Given the description of an element on the screen output the (x, y) to click on. 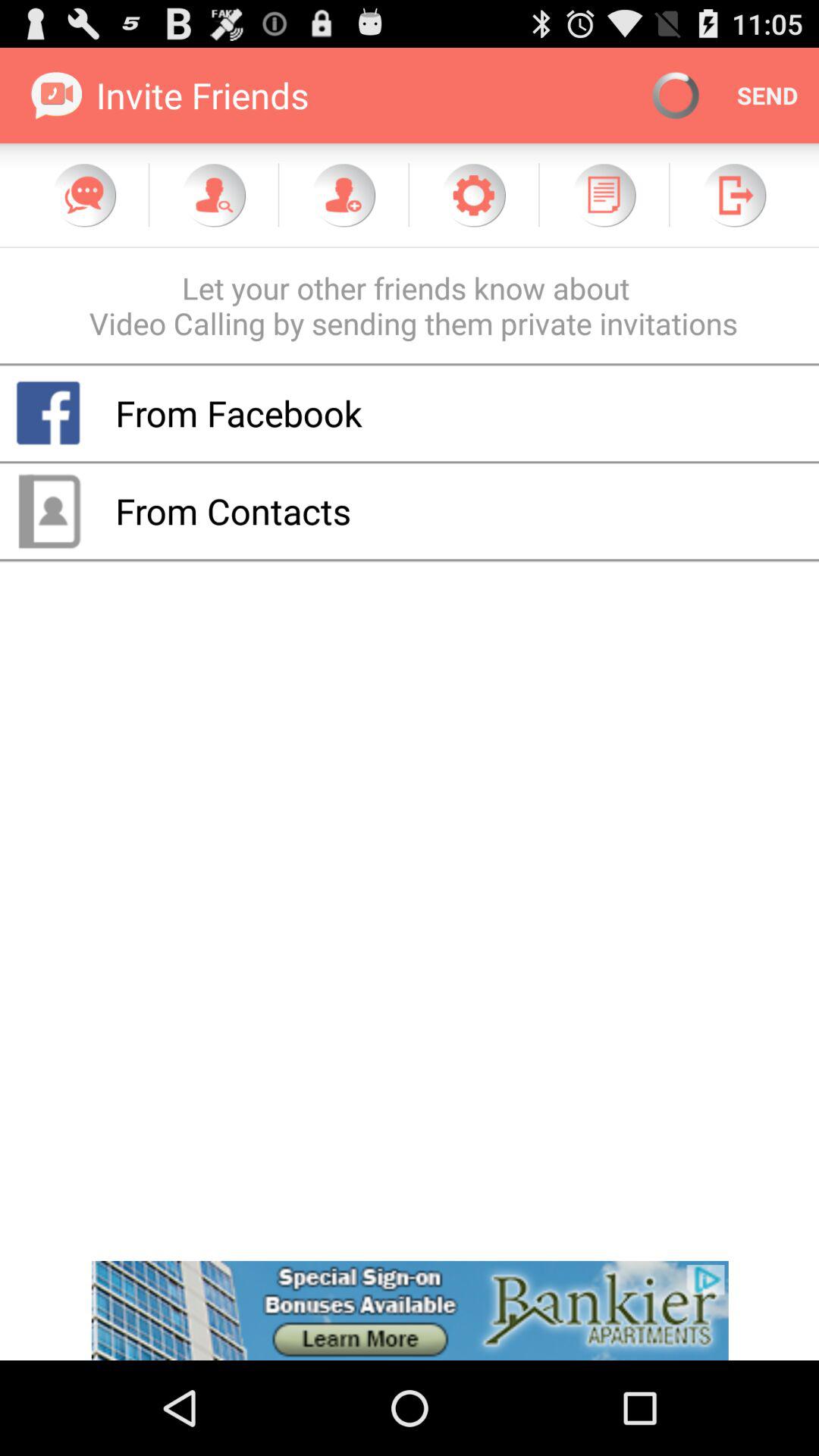
chat (84, 194)
